Given the description of an element on the screen output the (x, y) to click on. 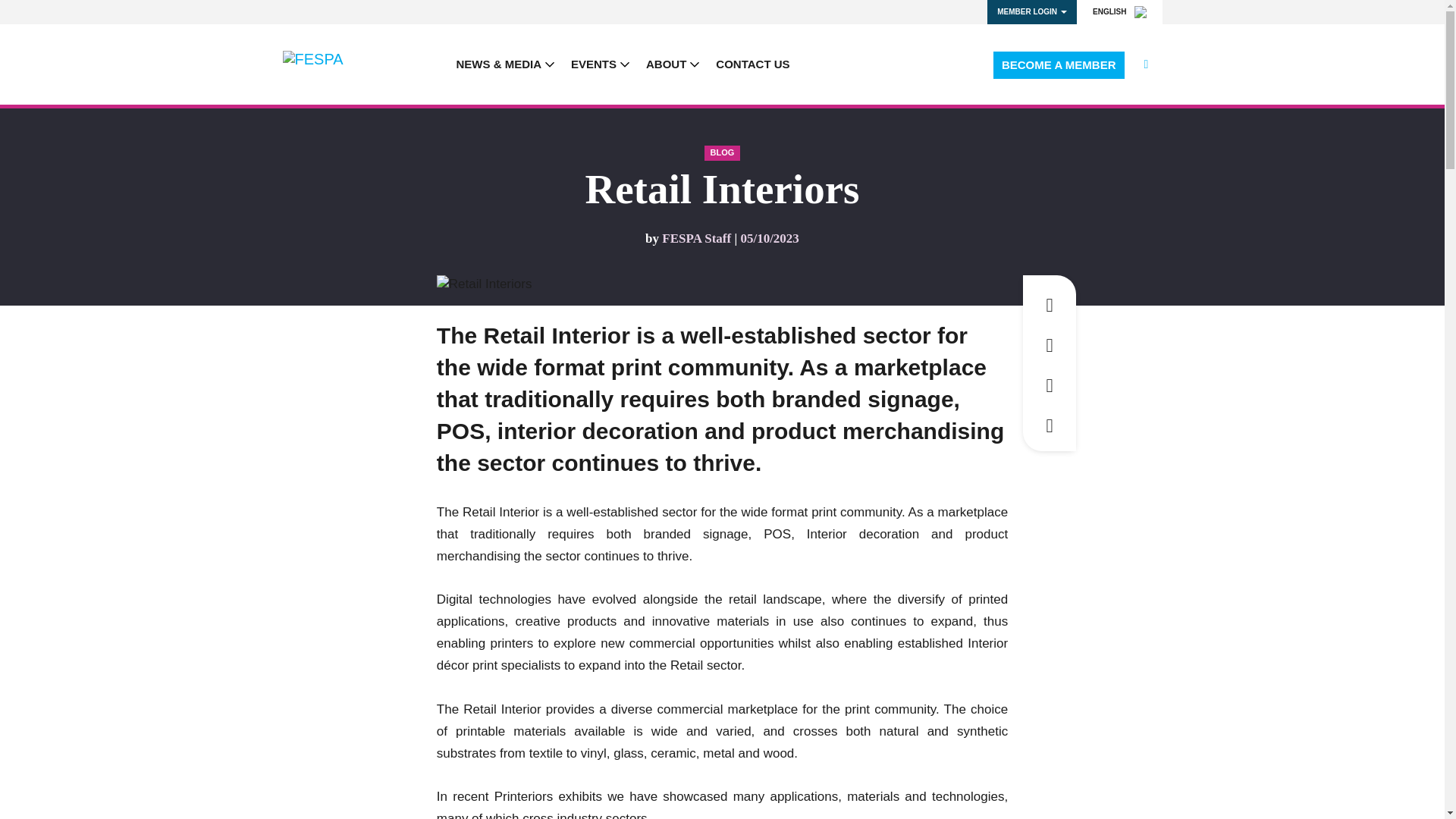
MEMBER LOGIN (1032, 12)
ENGLISH (1119, 12)
EVENTS (601, 63)
ABOUT (673, 63)
